Given the description of an element on the screen output the (x, y) to click on. 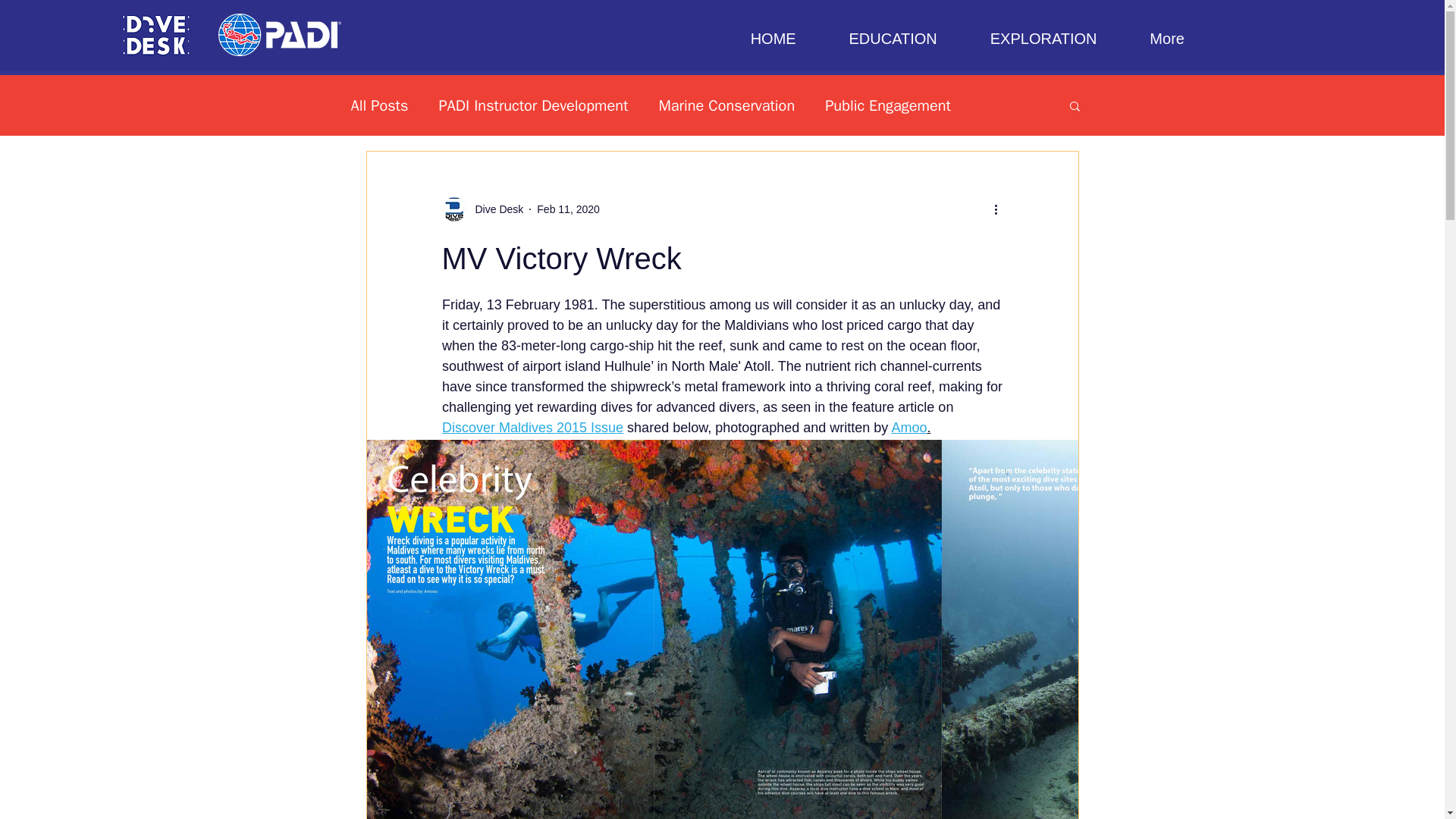
HOME (772, 38)
All Posts (378, 105)
EDUCATION (892, 38)
EXPLORATION (1043, 38)
Dive Desk (493, 209)
Discover Maldives 2015 Issue (532, 427)
Marine Conservation (726, 105)
Public Engagement (887, 105)
Amoo (908, 427)
PADI Instructor Development (532, 105)
